Given the description of an element on the screen output the (x, y) to click on. 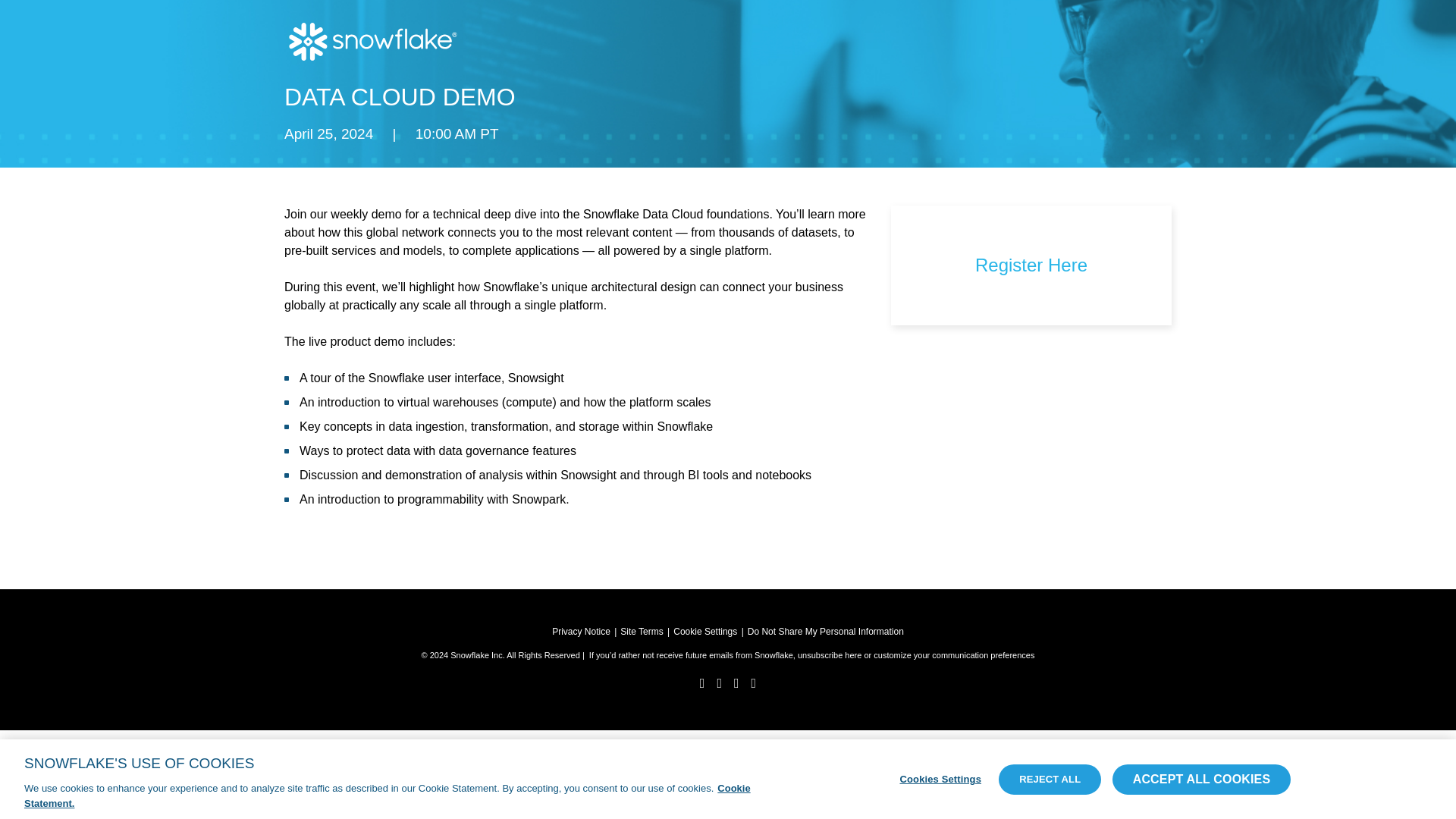
Site Terms (641, 631)
Cookie Settings (704, 631)
Do Not Share My Personal Information (826, 631)
Privacy Notice (580, 631)
unsubscribe here or customize your communication preferences (915, 655)
